Given the description of an element on the screen output the (x, y) to click on. 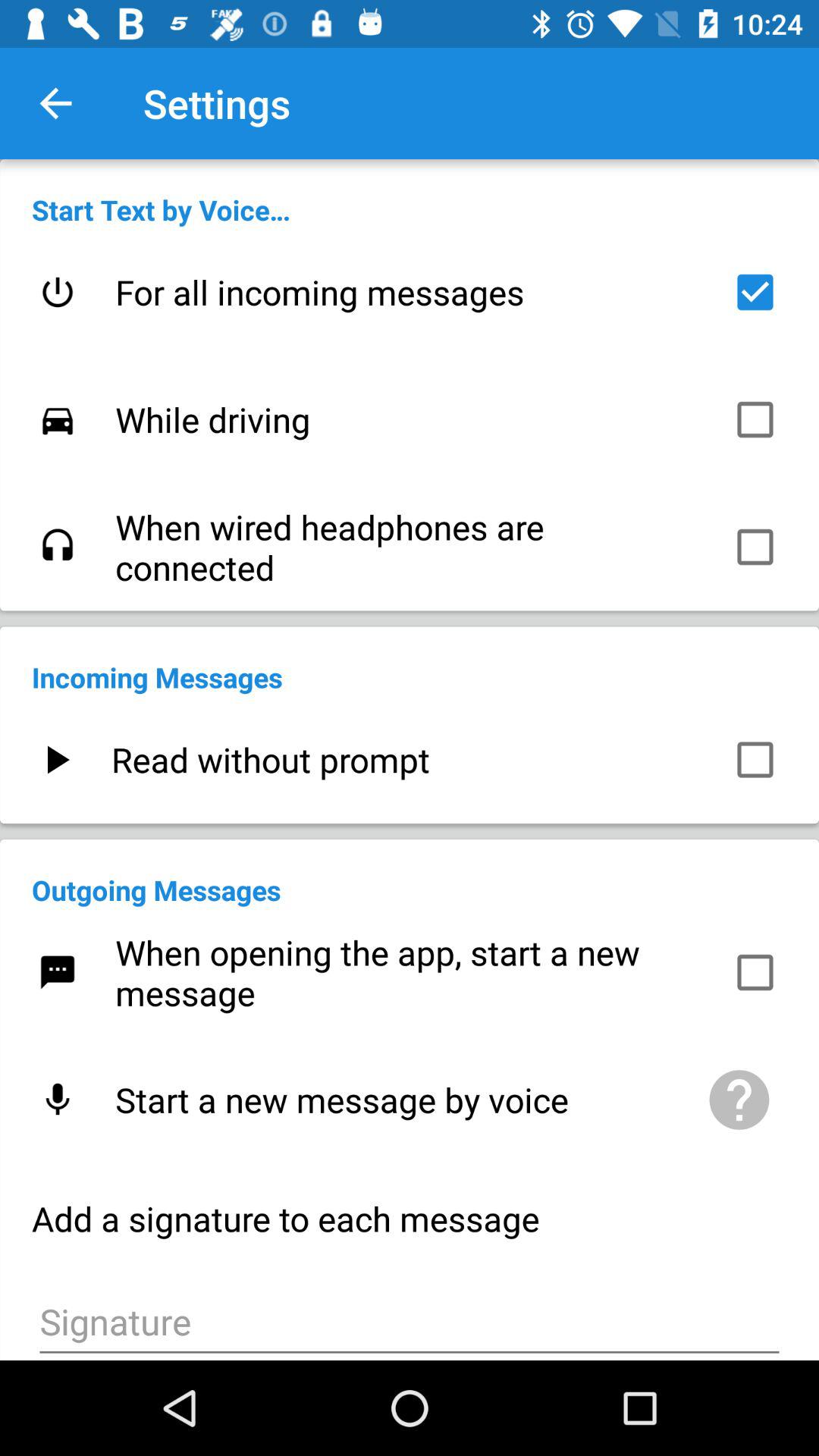
launch the item to the right of start a new (739, 1099)
